Given the description of an element on the screen output the (x, y) to click on. 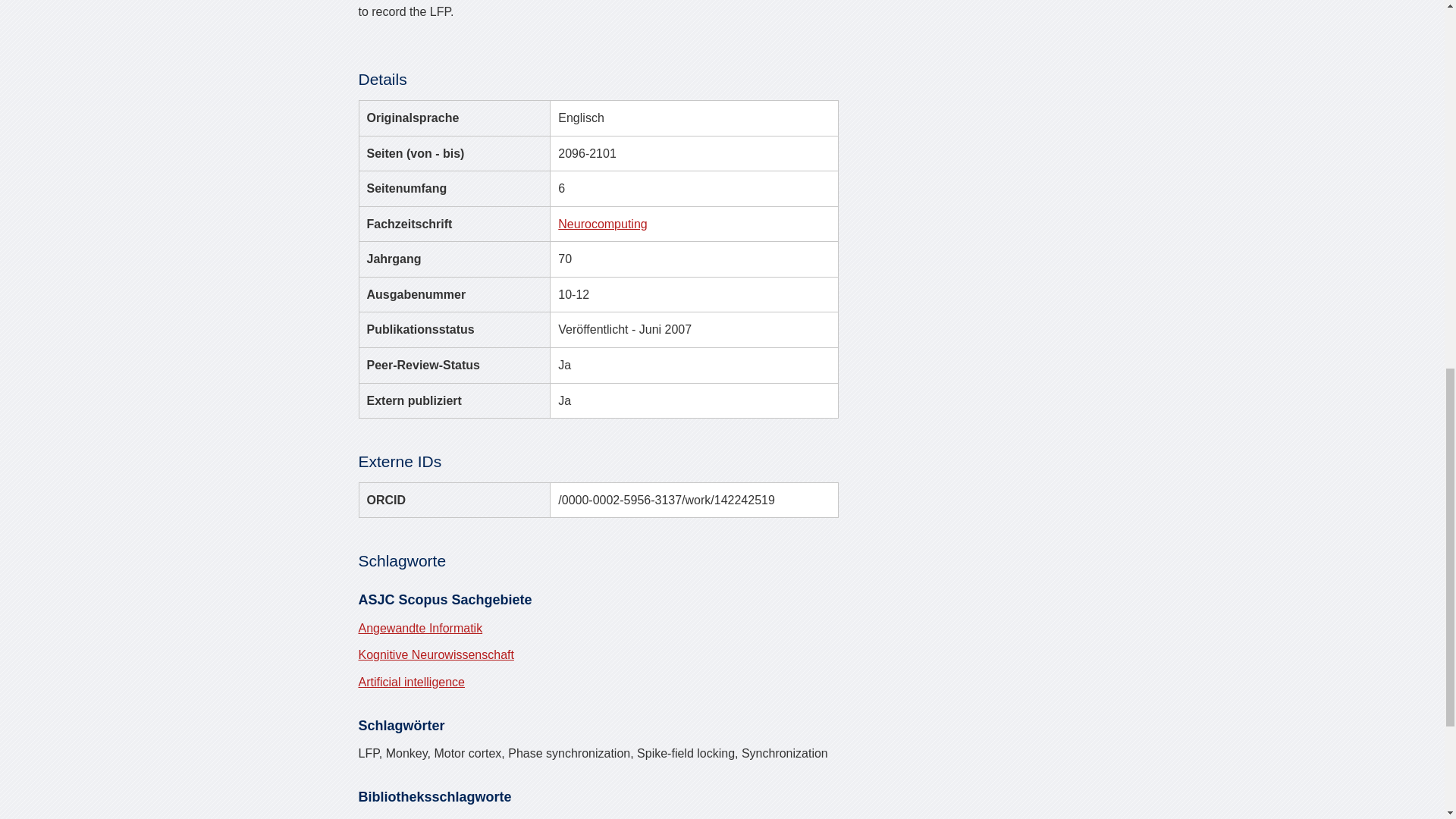
Neurocomputing (601, 223)
Kognitive Neurowissenschaft (435, 654)
Angewandte Informatik (419, 627)
Artificial intelligence (411, 681)
